Given the description of an element on the screen output the (x, y) to click on. 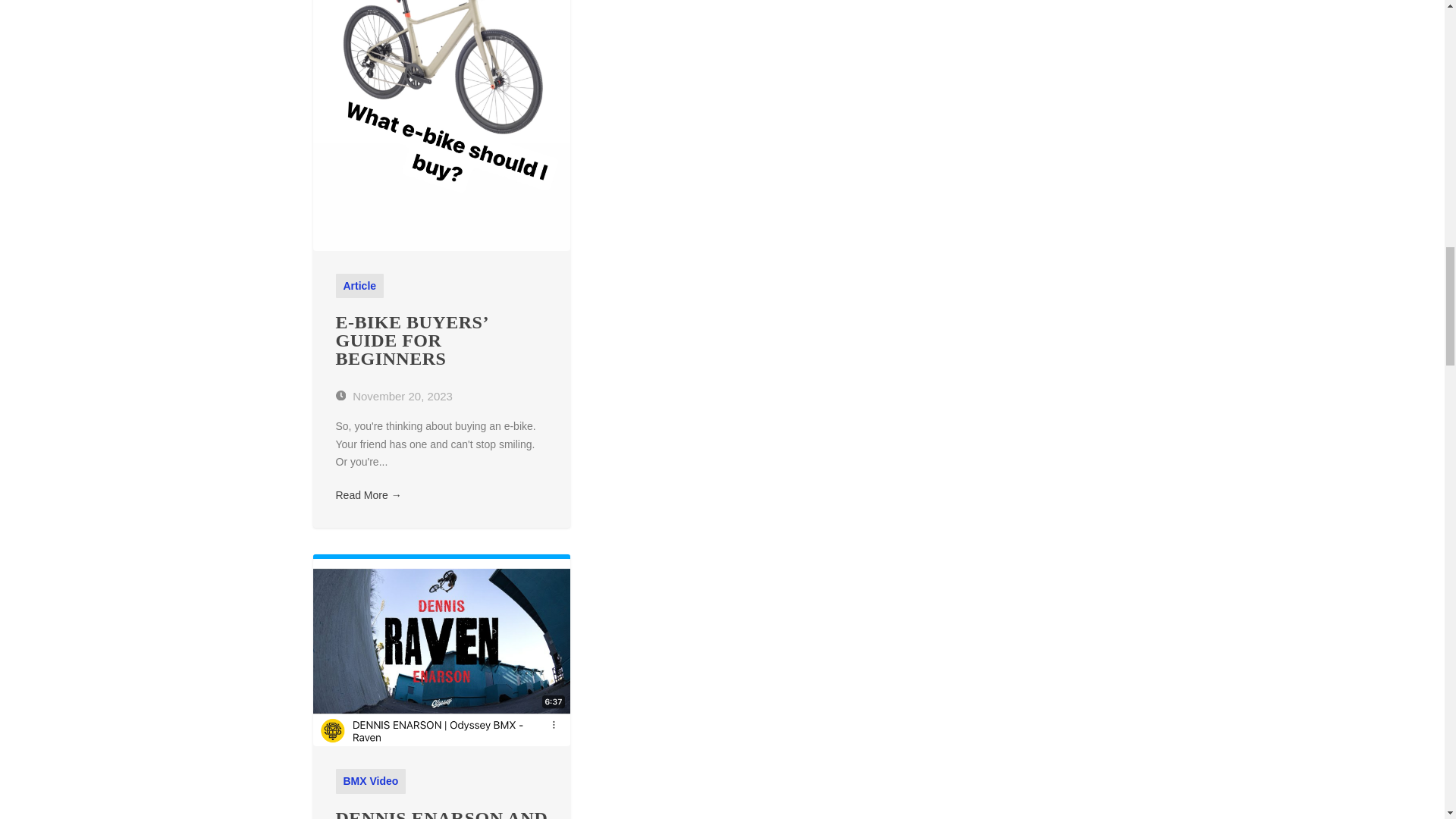
Article (358, 285)
BMX Video (369, 780)
November 20, 2023 (392, 395)
